Given the description of an element on the screen output the (x, y) to click on. 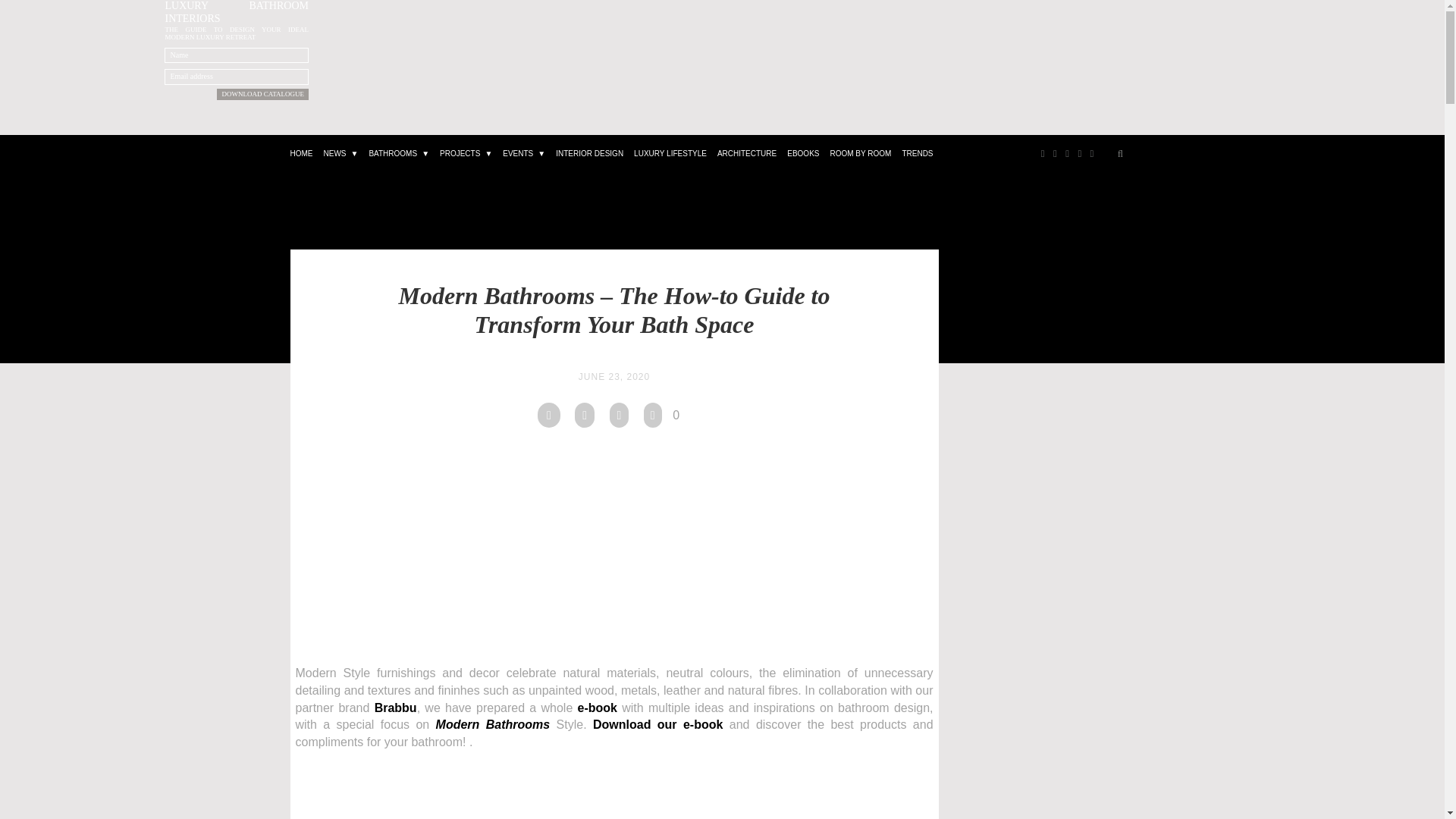
NEWS (341, 157)
EVENTS (523, 157)
ARCHITECTURE (746, 157)
PROJECTS (465, 157)
DOWNLOAD CATALOGUE (262, 93)
HOME (301, 157)
LUXURY LIFESTYLE (669, 157)
ROOM BY ROOM (860, 157)
TRENDS (916, 157)
BATHROOMS (397, 157)
